Given the description of an element on the screen output the (x, y) to click on. 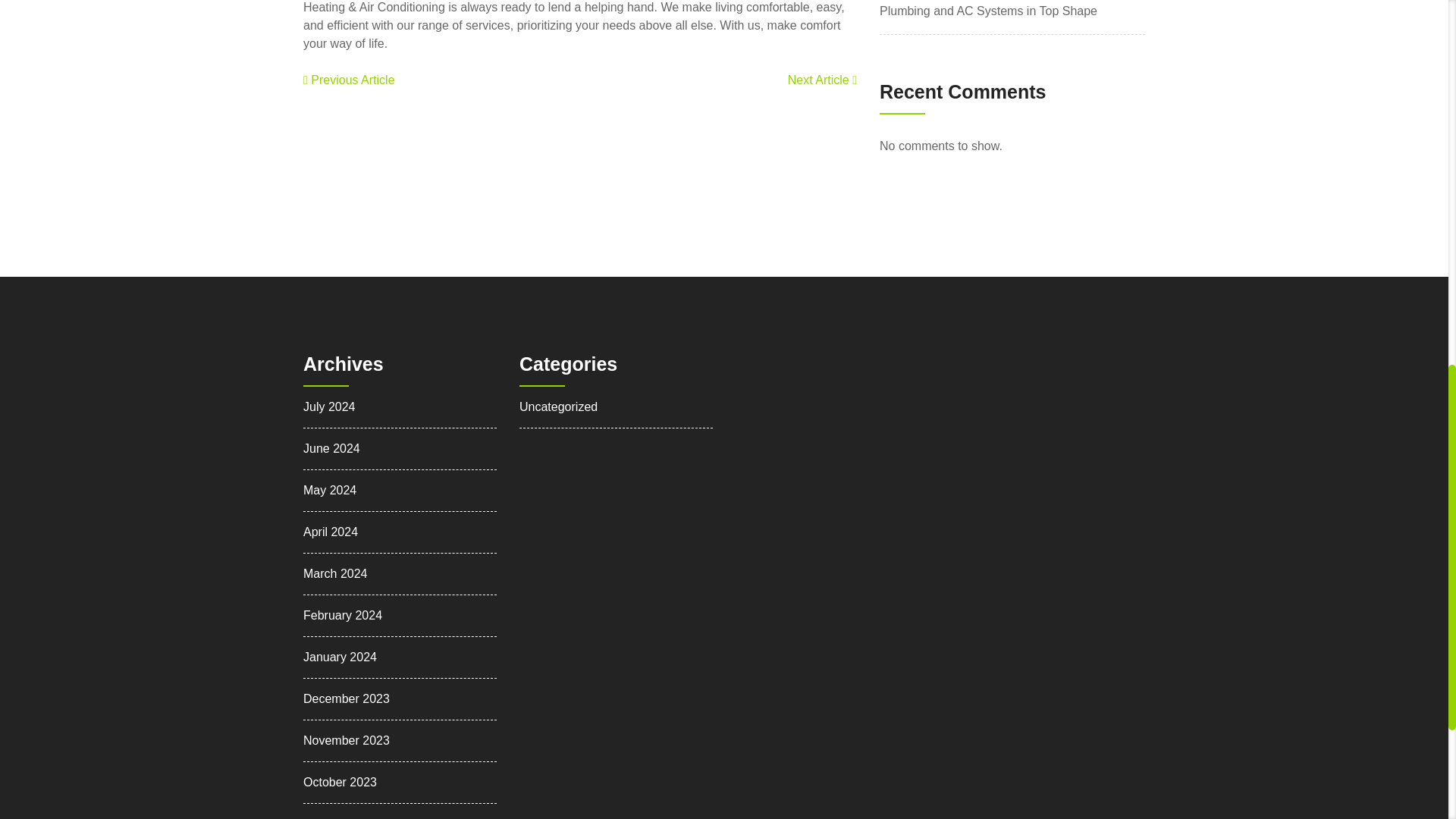
Uncategorized (557, 406)
January 2024 (339, 656)
July 2024 (328, 406)
February 2024 (341, 614)
October 2023 (339, 780)
December 2023 (346, 697)
March 2024 (335, 573)
April 2024 (330, 530)
Next Article (822, 79)
November 2023 (346, 739)
Previous Article (348, 79)
May 2024 (329, 490)
June 2024 (330, 447)
September 2023 (347, 818)
